Given the description of an element on the screen output the (x, y) to click on. 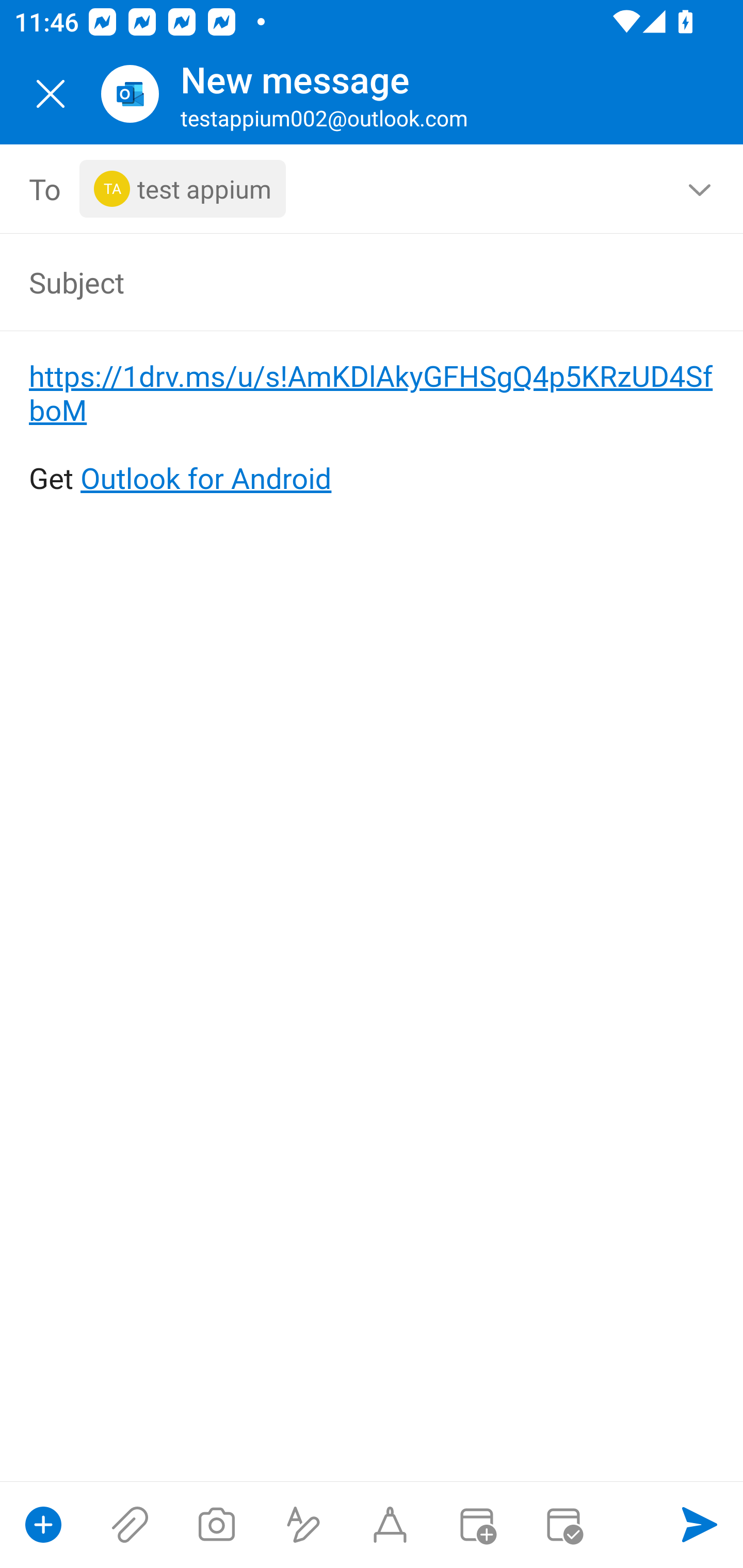
Close (50, 93)
Subject (342, 281)
Show compose options (43, 1524)
Attach files (129, 1524)
Take a photo (216, 1524)
Show formatting options (303, 1524)
Start Ink compose (389, 1524)
Convert to event (476, 1524)
Send availability (563, 1524)
Send (699, 1524)
